Given the description of an element on the screen output the (x, y) to click on. 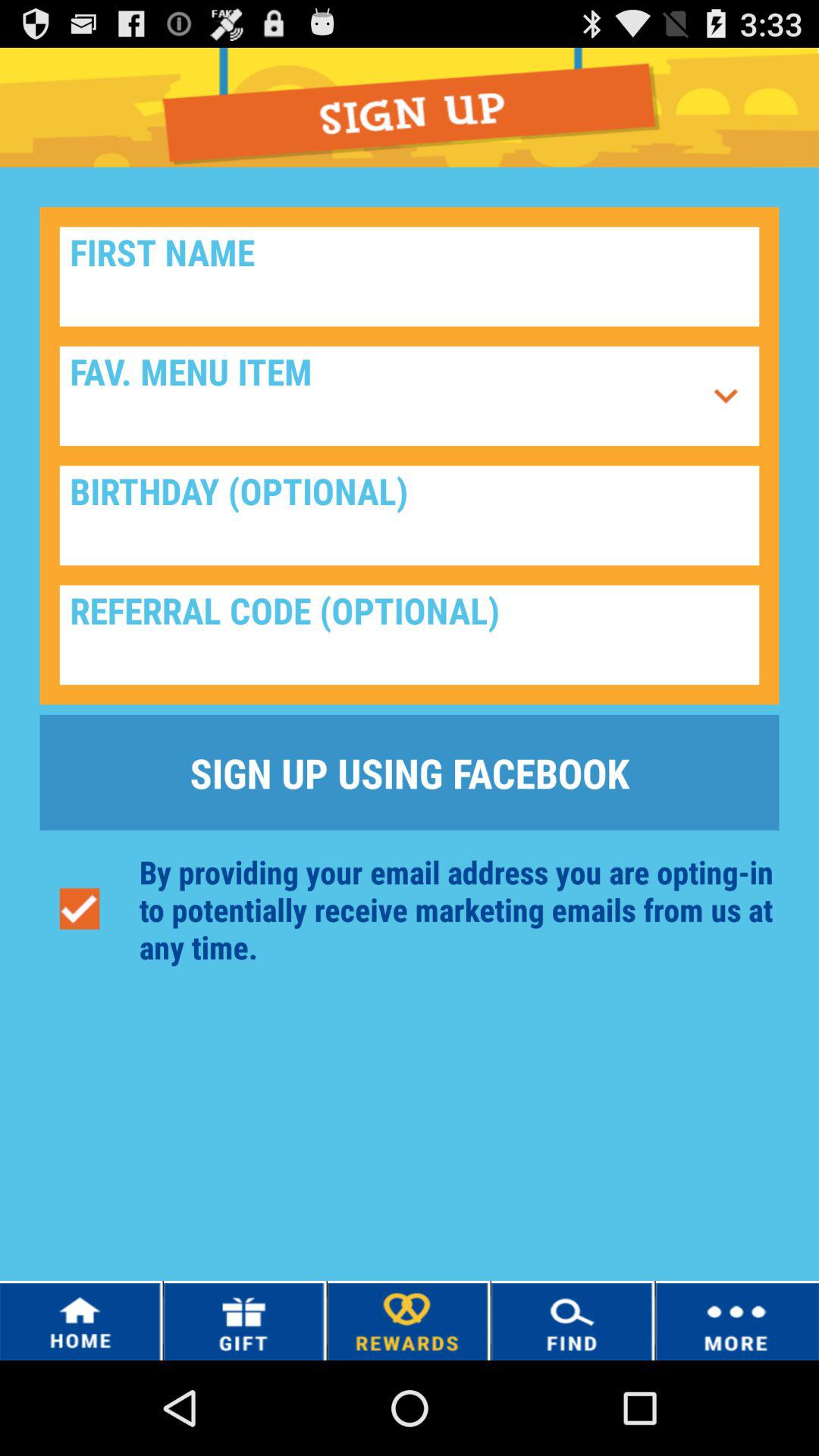
menu list (725, 395)
